Given the description of an element on the screen output the (x, y) to click on. 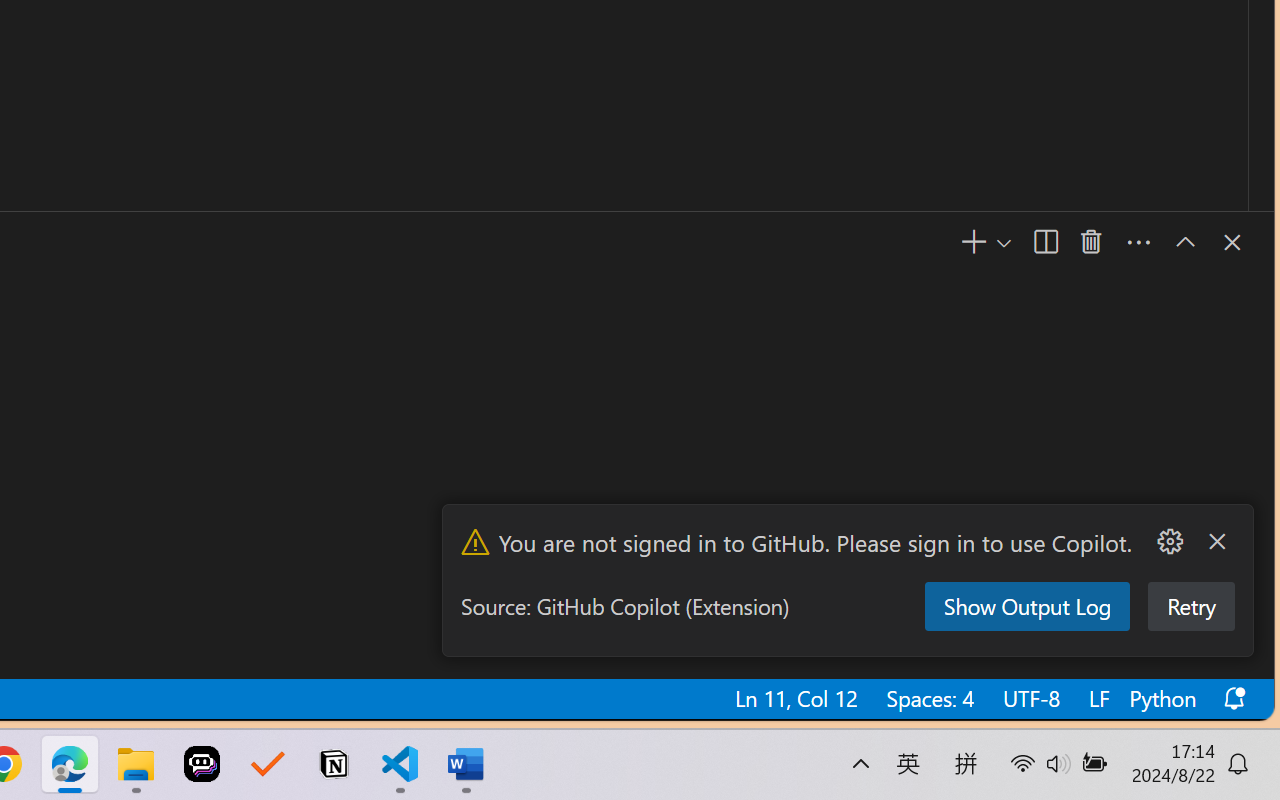
Show Output Log (1025, 606)
More Actions... (1169, 542)
Close Panel (1230, 242)
Notifications (1232, 698)
